Given the description of an element on the screen output the (x, y) to click on. 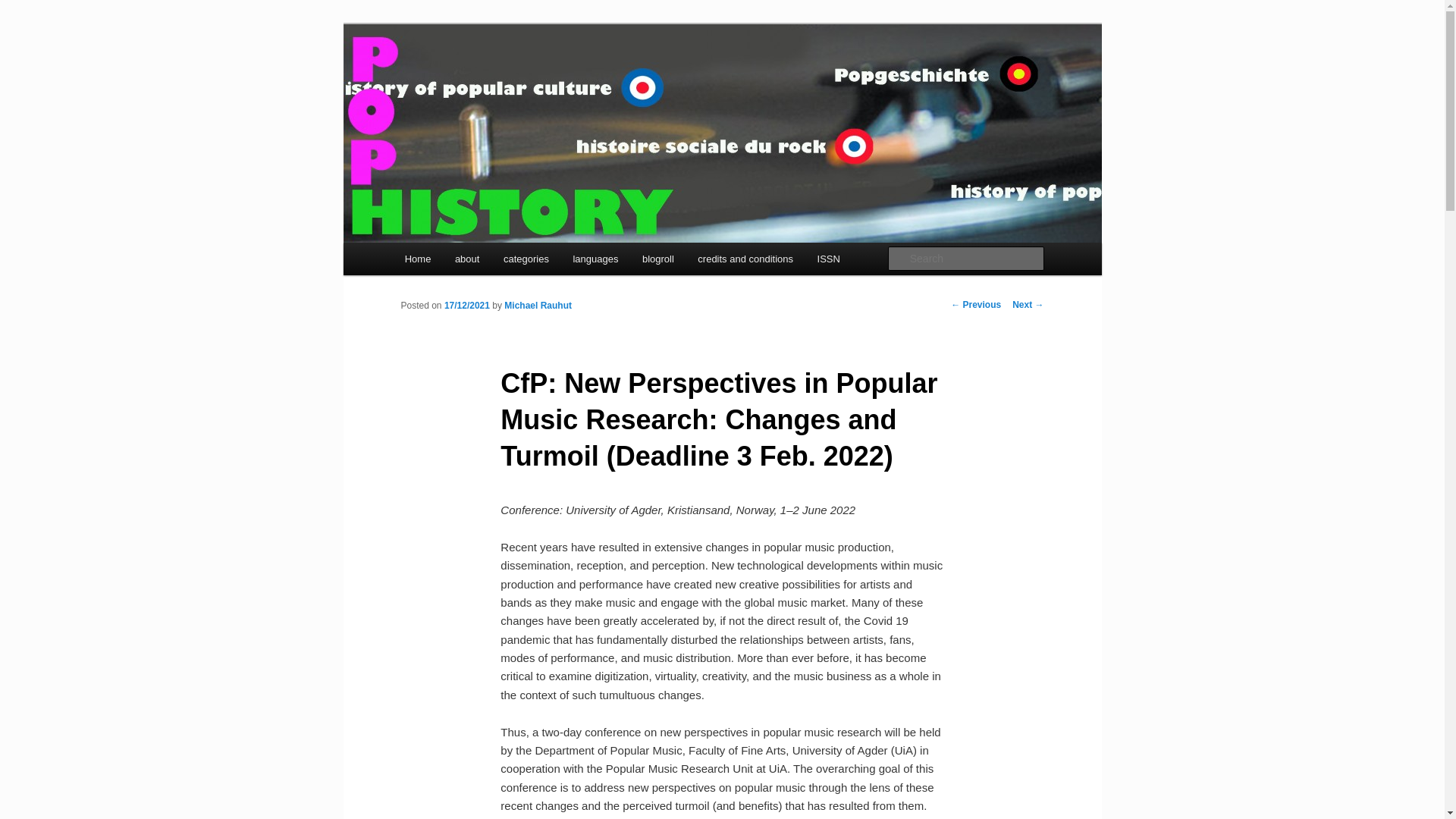
blogroll (657, 258)
9:15 (466, 305)
PopHistory (460, 78)
Search (24, 8)
credits and conditions (745, 258)
languages (595, 258)
Home (417, 258)
ISSN (828, 258)
categories (526, 258)
about (467, 258)
Michael Rauhut (537, 305)
